Given the description of an element on the screen output the (x, y) to click on. 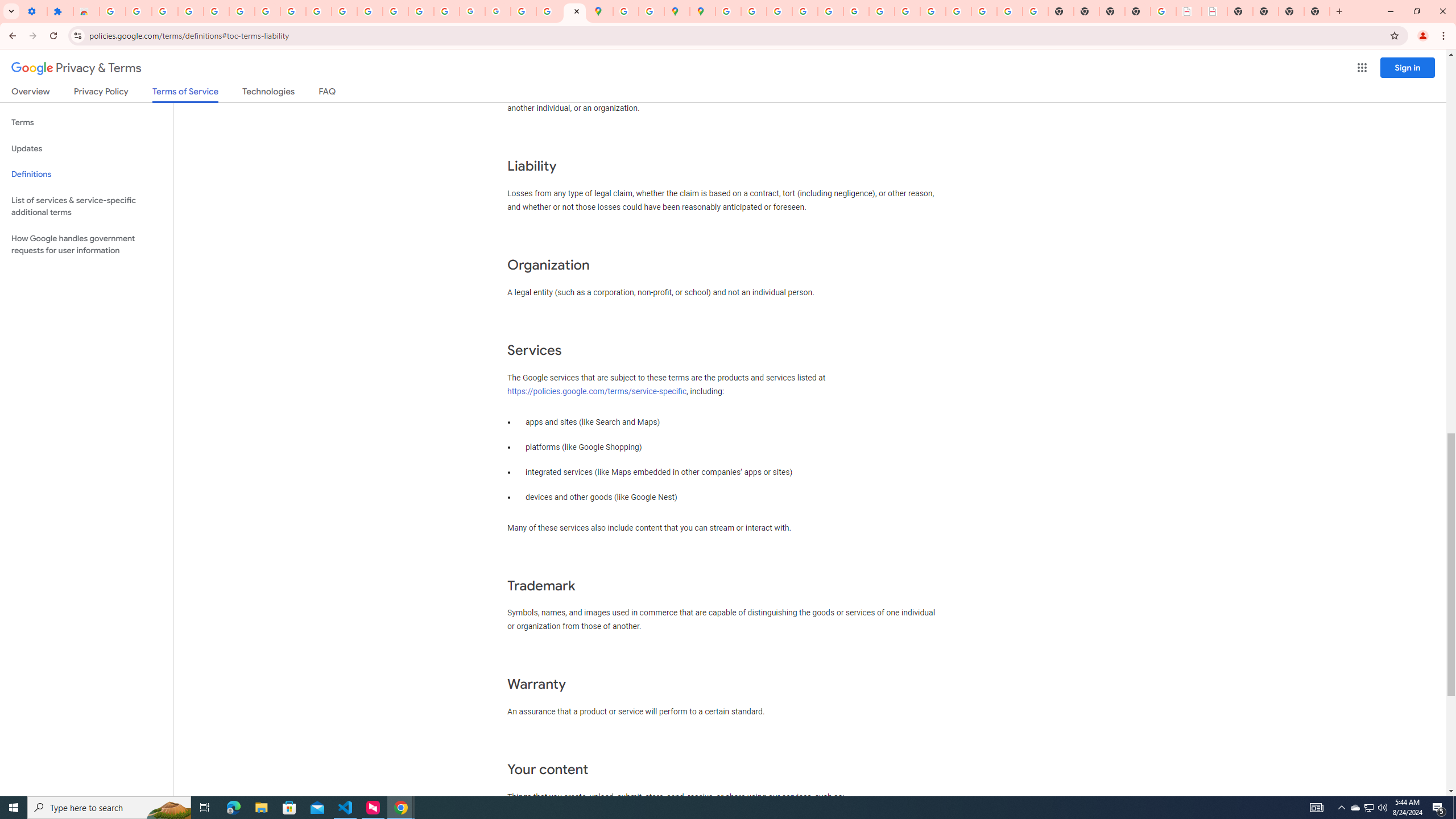
Bookmark this tab (1393, 35)
Reload (52, 35)
Search tabs (10, 11)
Browse Chrome as a guest - Computer - Google Chrome Help (907, 11)
Privacy Help Center - Policies Help (804, 11)
FAQ (327, 93)
Restore (1416, 11)
You (1422, 35)
